Given the description of an element on the screen output the (x, y) to click on. 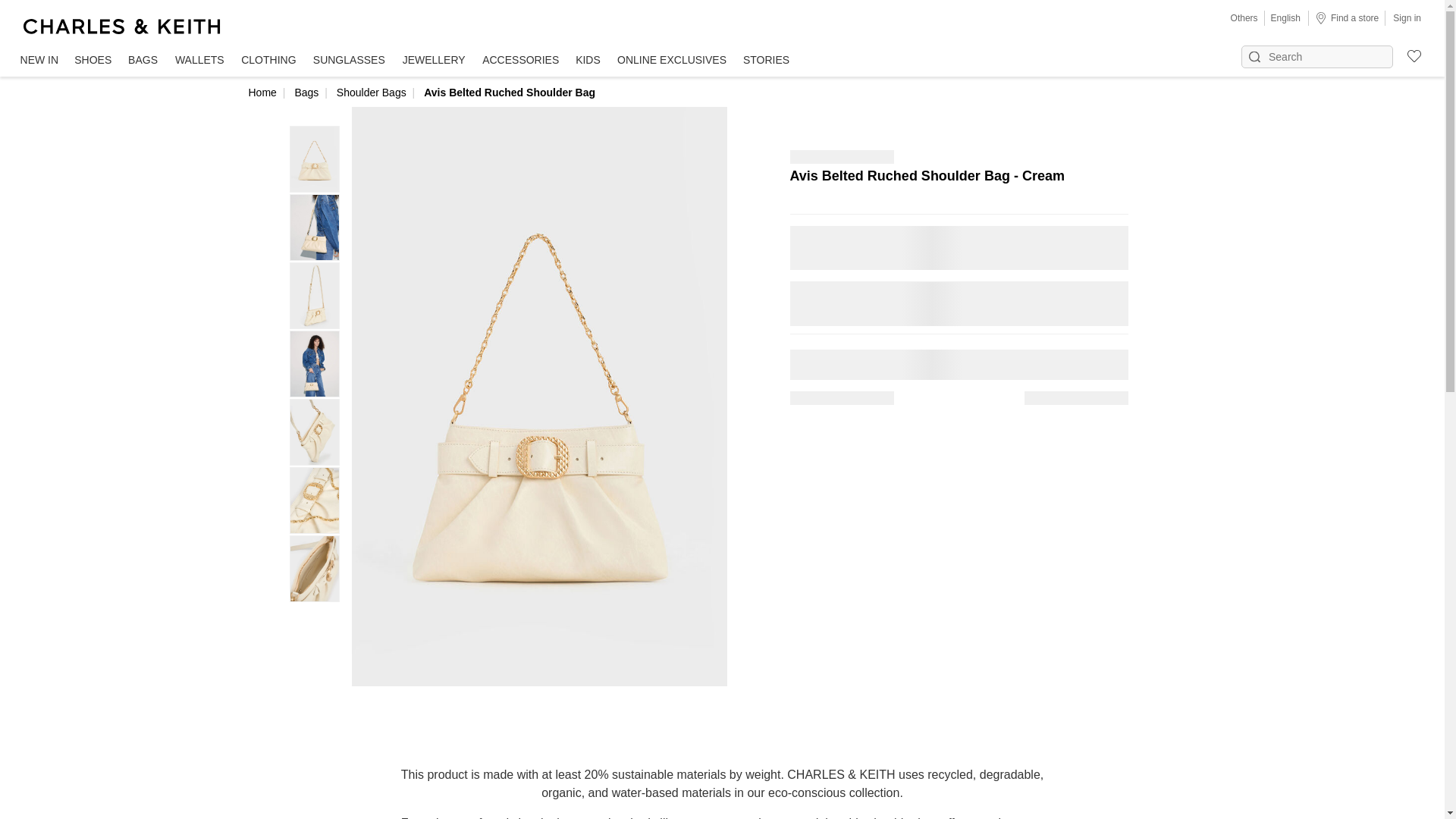
Sign in (1407, 18)
CLOTHING (268, 60)
ONLINE EXCLUSIVES (671, 60)
Find a store (1346, 18)
Others (1243, 18)
SUNGLASSES (349, 60)
BAGS (143, 60)
wishlist (1407, 53)
WALLETS (198, 60)
ACCESSORIES (520, 60)
KIDS (587, 60)
SHOES (92, 60)
JEWELLERY (433, 60)
NEW IN (38, 60)
STORIES (765, 60)
